Given the description of an element on the screen output the (x, y) to click on. 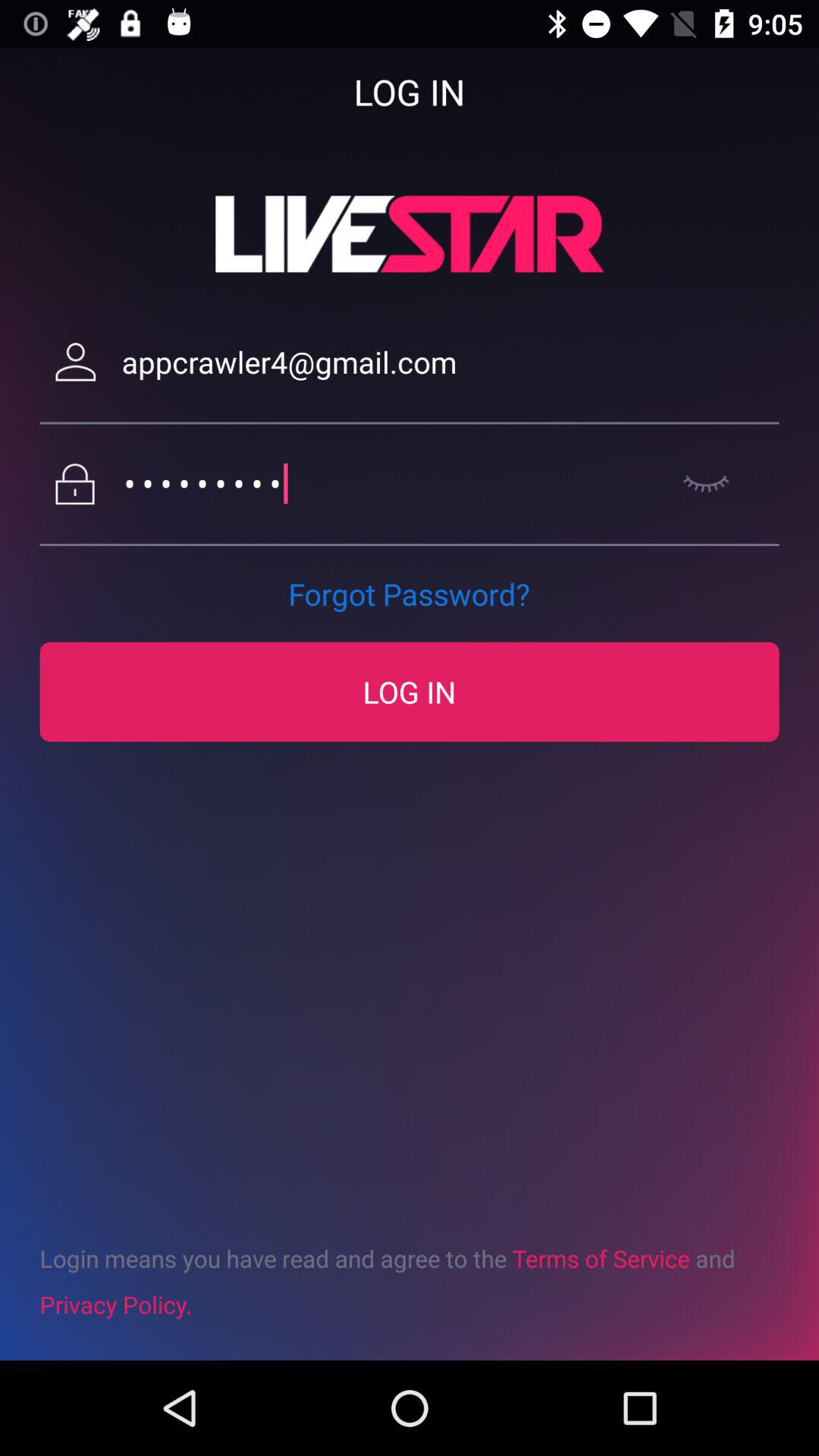
flip to forgot password? item (409, 593)
